Given the description of an element on the screen output the (x, y) to click on. 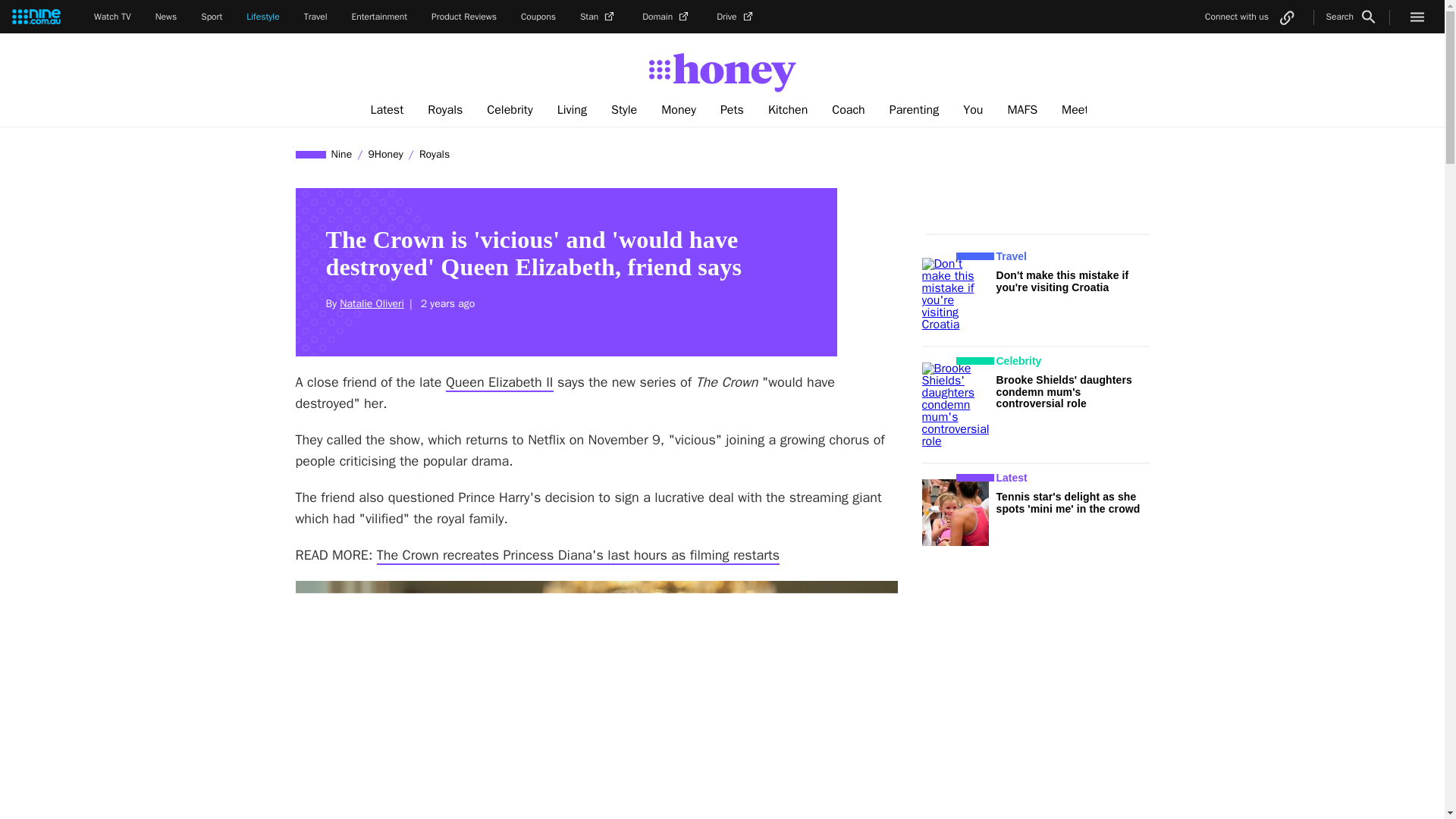
Product Reviews (463, 16)
Celebrity (509, 109)
Latest (386, 109)
Watch TV (112, 16)
Entertainment (379, 16)
Domain (667, 16)
Living (571, 109)
Royals (444, 109)
Queen Elizabeth II (499, 382)
Lifestyle (262, 16)
